Given the description of an element on the screen output the (x, y) to click on. 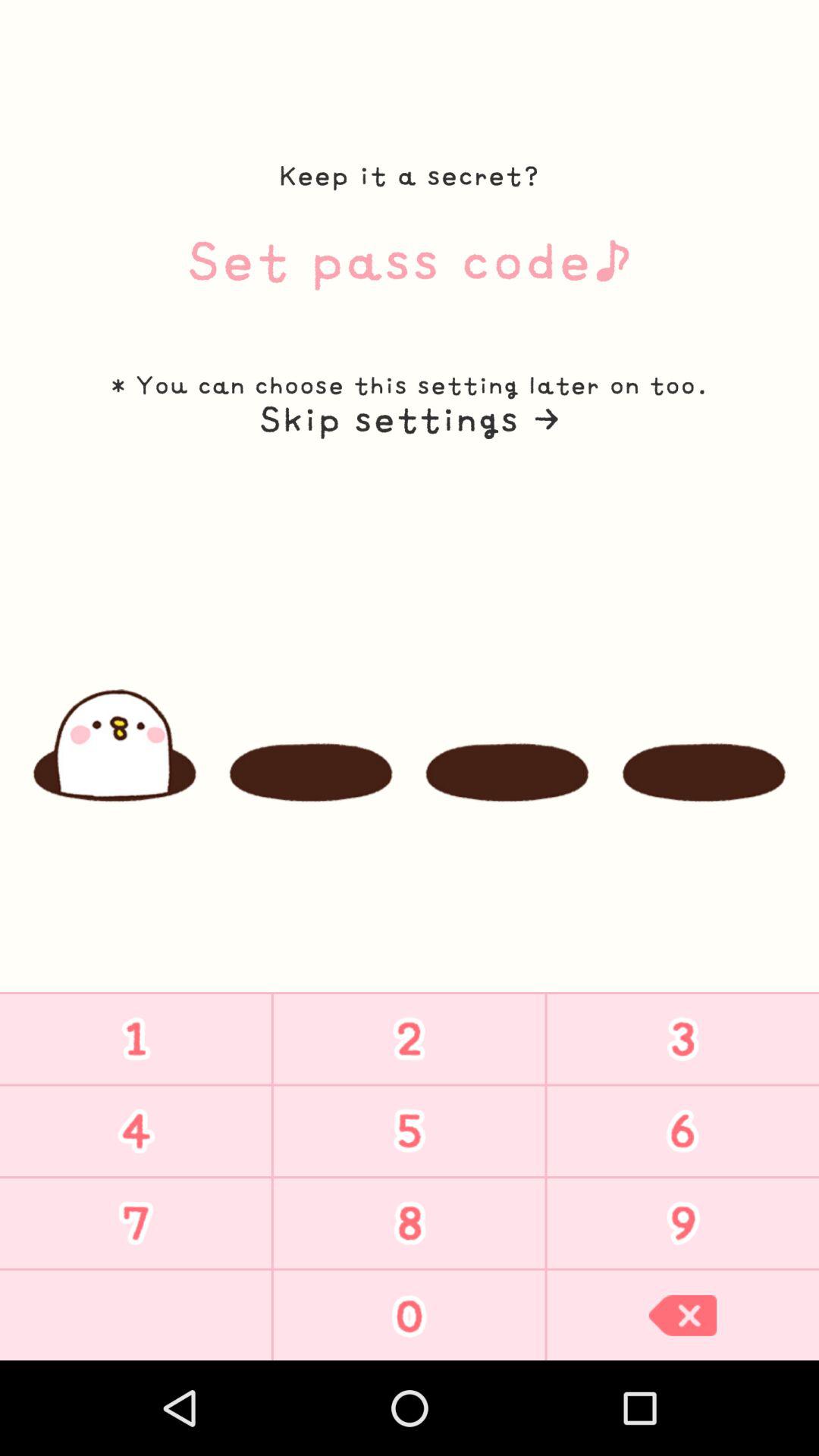
turn off item below you can choose item (409, 419)
